Given the description of an element on the screen output the (x, y) to click on. 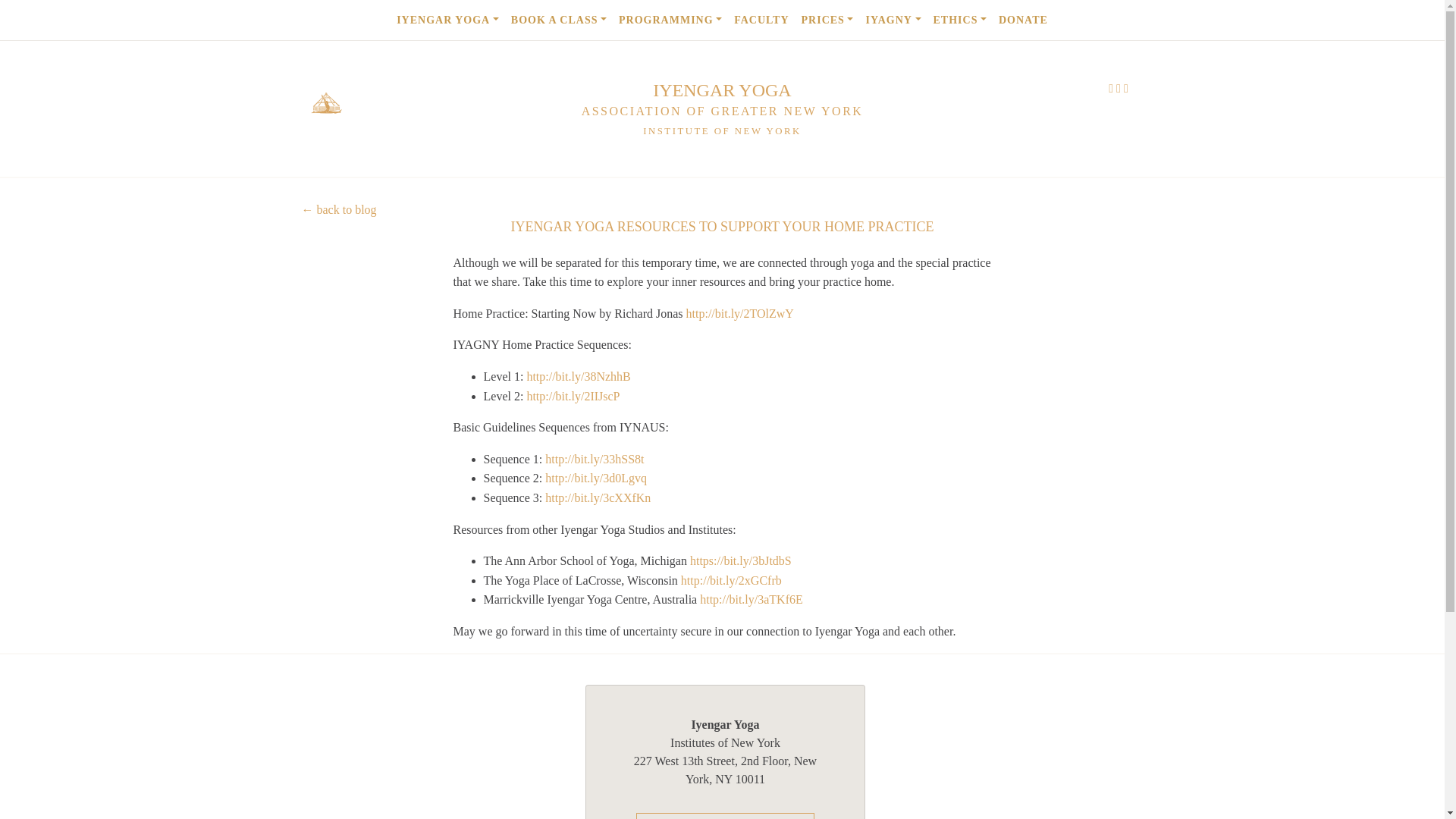
DONATE (1023, 19)
PROGRAMMING (670, 19)
FACULTY (761, 19)
IYAGNY (892, 19)
PRICES (827, 19)
IYENGAR YOGA (447, 19)
BOOK A CLASS (558, 19)
IYENGAR YOGA (721, 89)
ETHICS (959, 19)
